Given the description of an element on the screen output the (x, y) to click on. 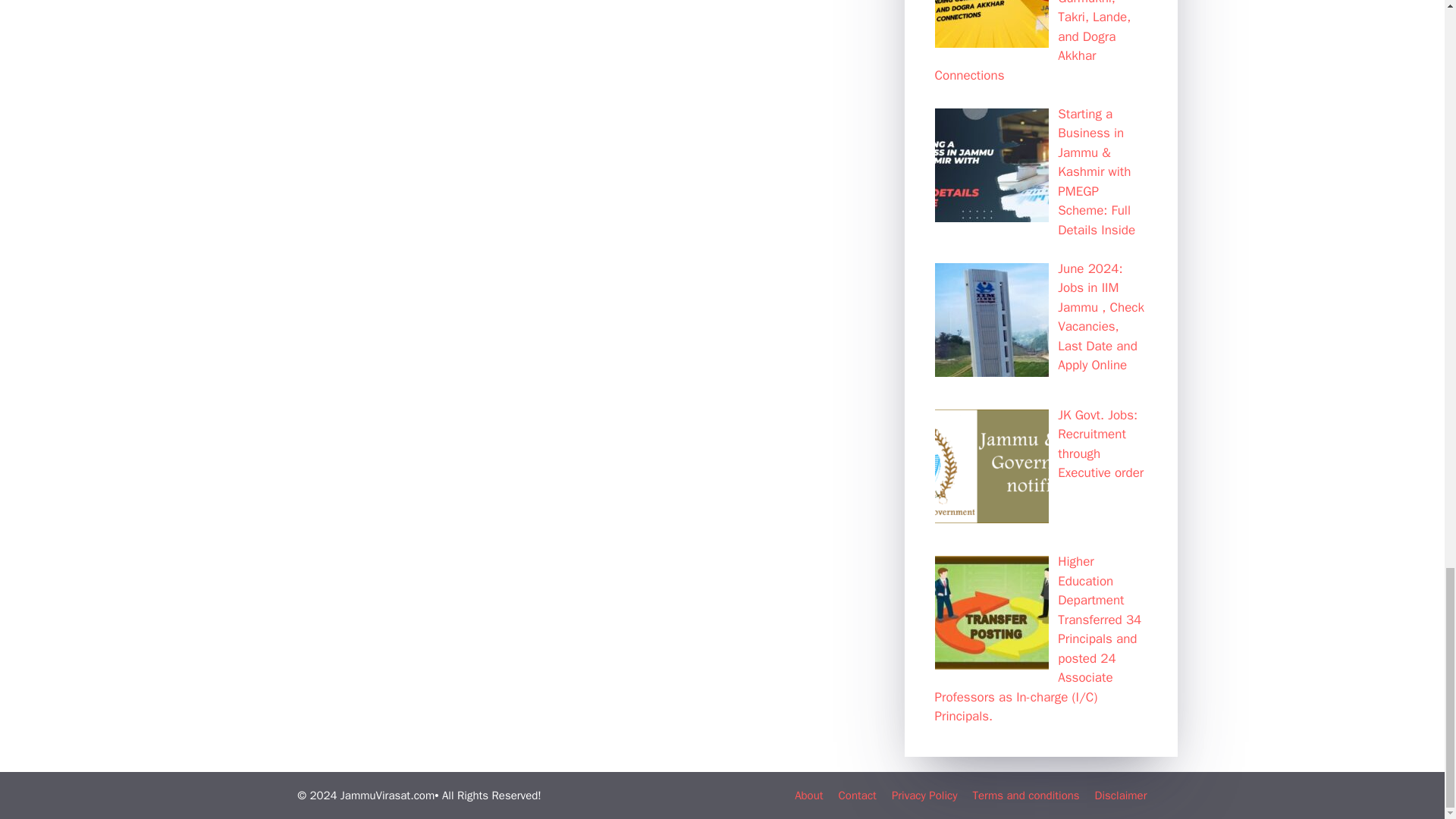
About (808, 795)
Disclaimer (1120, 795)
Contact (857, 795)
Privacy Policy (924, 795)
Terms and conditions (1025, 795)
JK Govt. Jobs: Recruitment through Executive order (1100, 444)
